Given the description of an element on the screen output the (x, y) to click on. 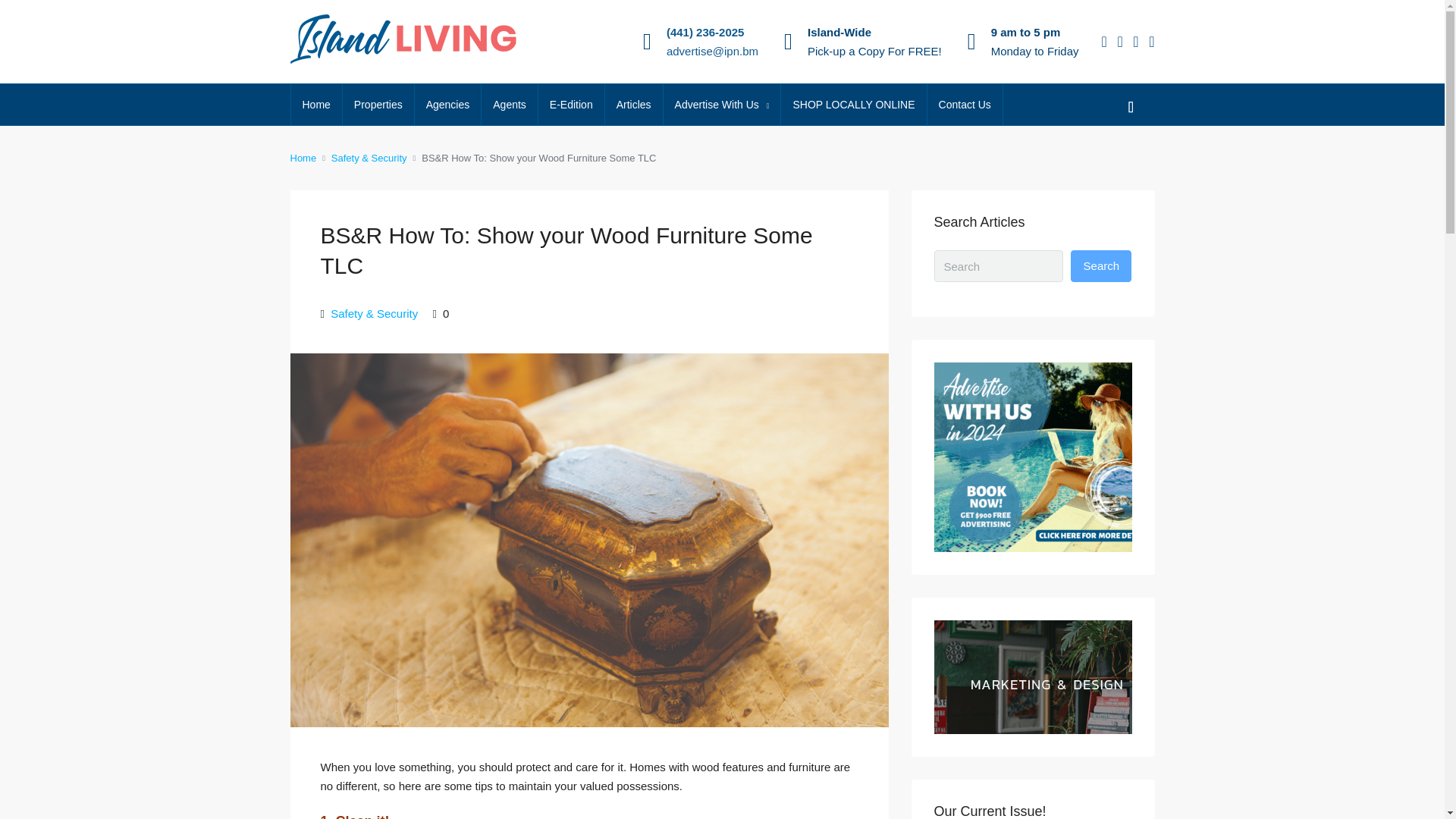
Agencies (447, 104)
Agents (509, 104)
SHOP LOCALLY ONLINE (853, 104)
Contact Us (965, 104)
Properties (377, 104)
E-Edition (571, 104)
Home (316, 104)
Advertise With Us (721, 105)
Articles (633, 104)
